Given the description of an element on the screen output the (x, y) to click on. 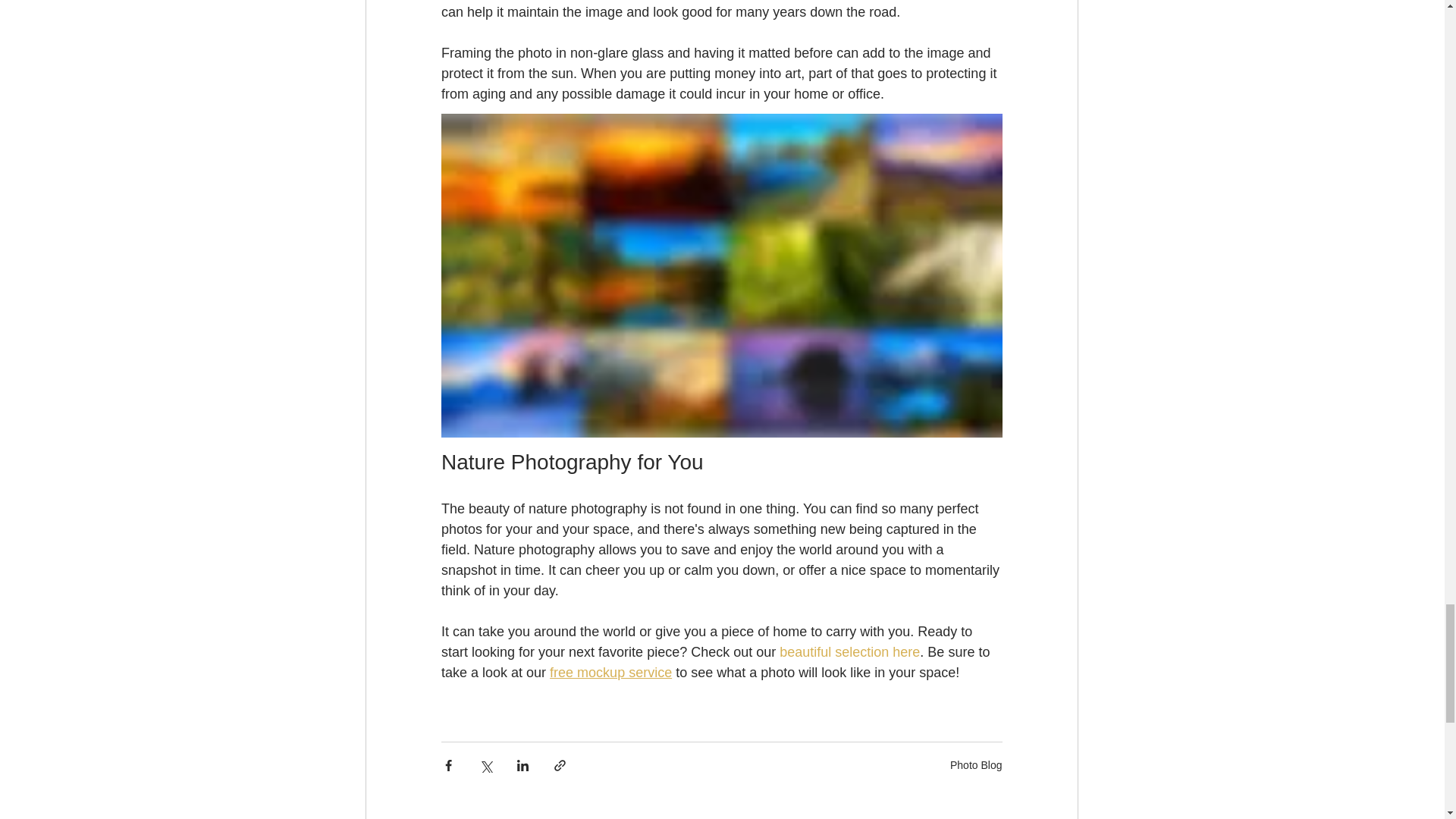
beautiful selection here (849, 652)
free mockup service (610, 672)
Photo Blog (976, 765)
